Given the description of an element on the screen output the (x, y) to click on. 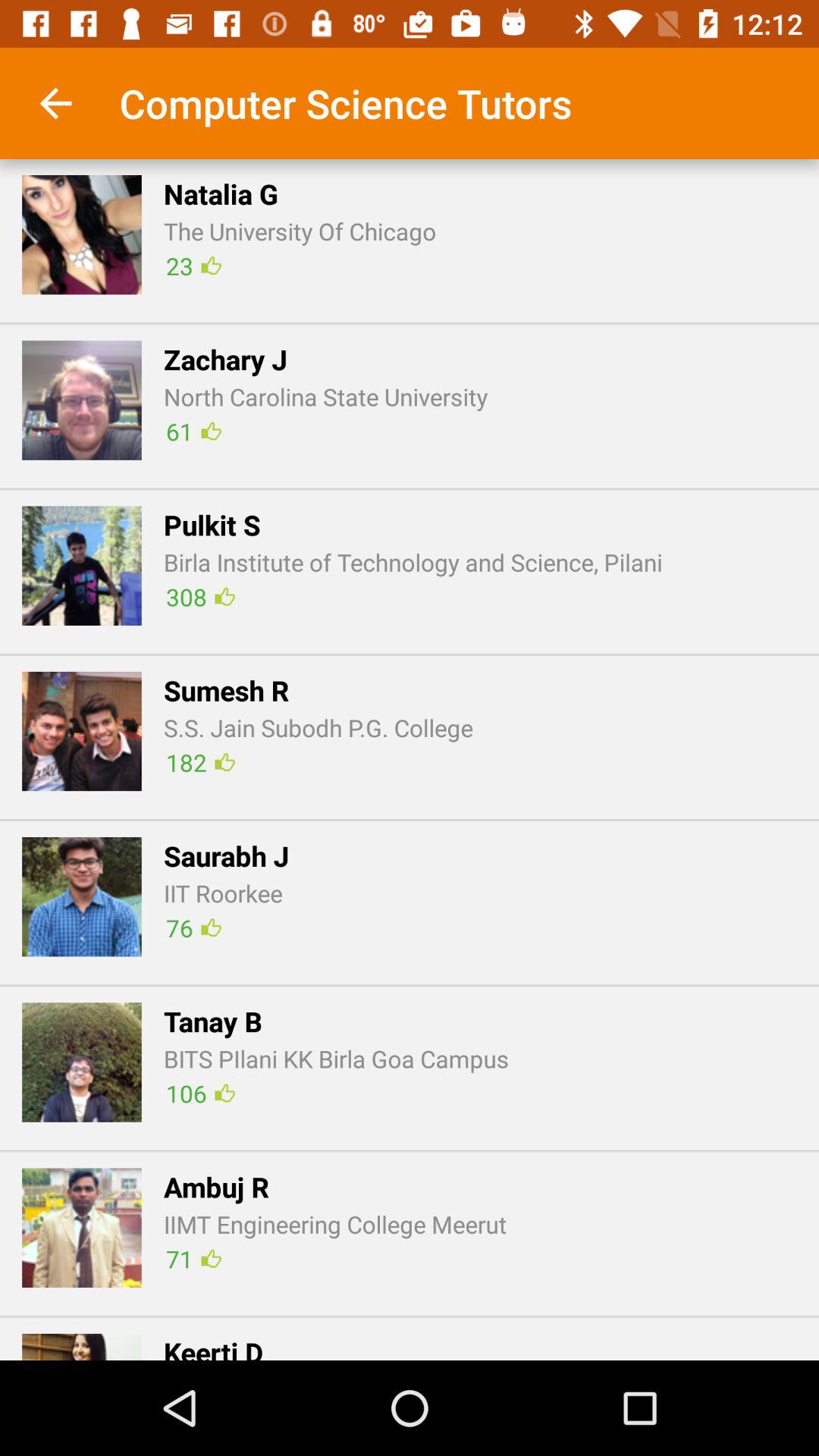
launch the icon to the right of the a icon (334, 1224)
